Given the description of an element on the screen output the (x, y) to click on. 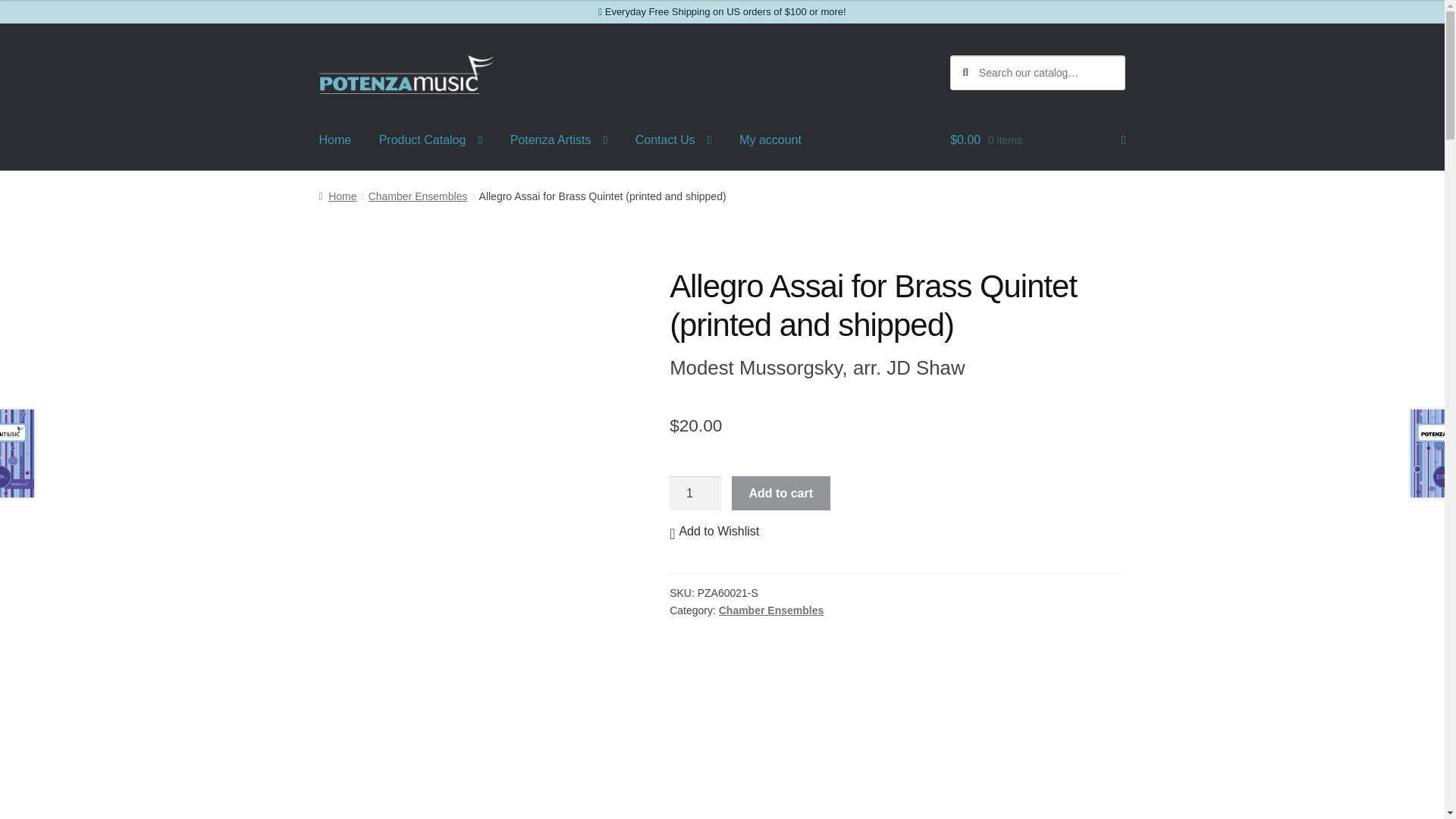
Home (335, 139)
My account (769, 139)
Potenza Artists (558, 139)
Product Catalog (430, 139)
1 (694, 493)
Chamber Ensembles (417, 196)
Contact Us (673, 139)
View your shopping cart (1037, 139)
Add to Wishlist (713, 531)
